Given the description of an element on the screen output the (x, y) to click on. 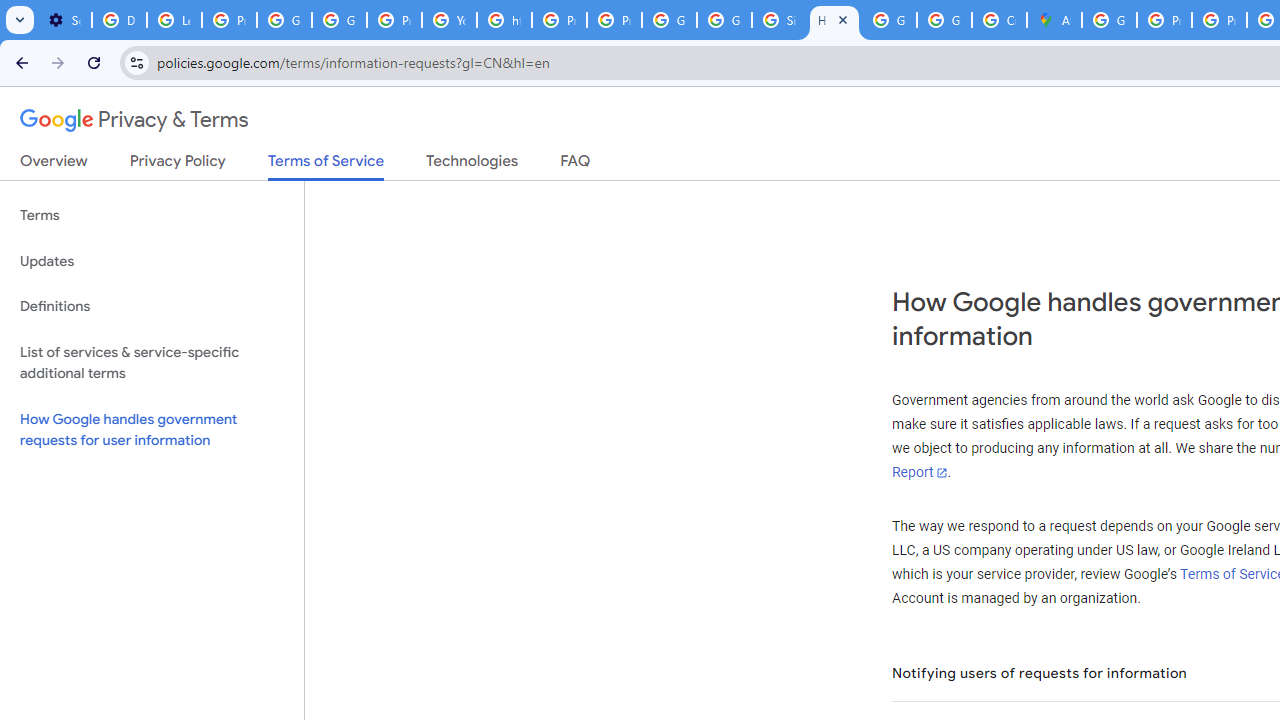
Google Account Help (284, 20)
Sign in - Google Accounts (779, 20)
YouTube (449, 20)
Privacy Help Center - Policies Help (1163, 20)
Delete photos & videos - Computer - Google Photos Help (119, 20)
